Given the description of an element on the screen output the (x, y) to click on. 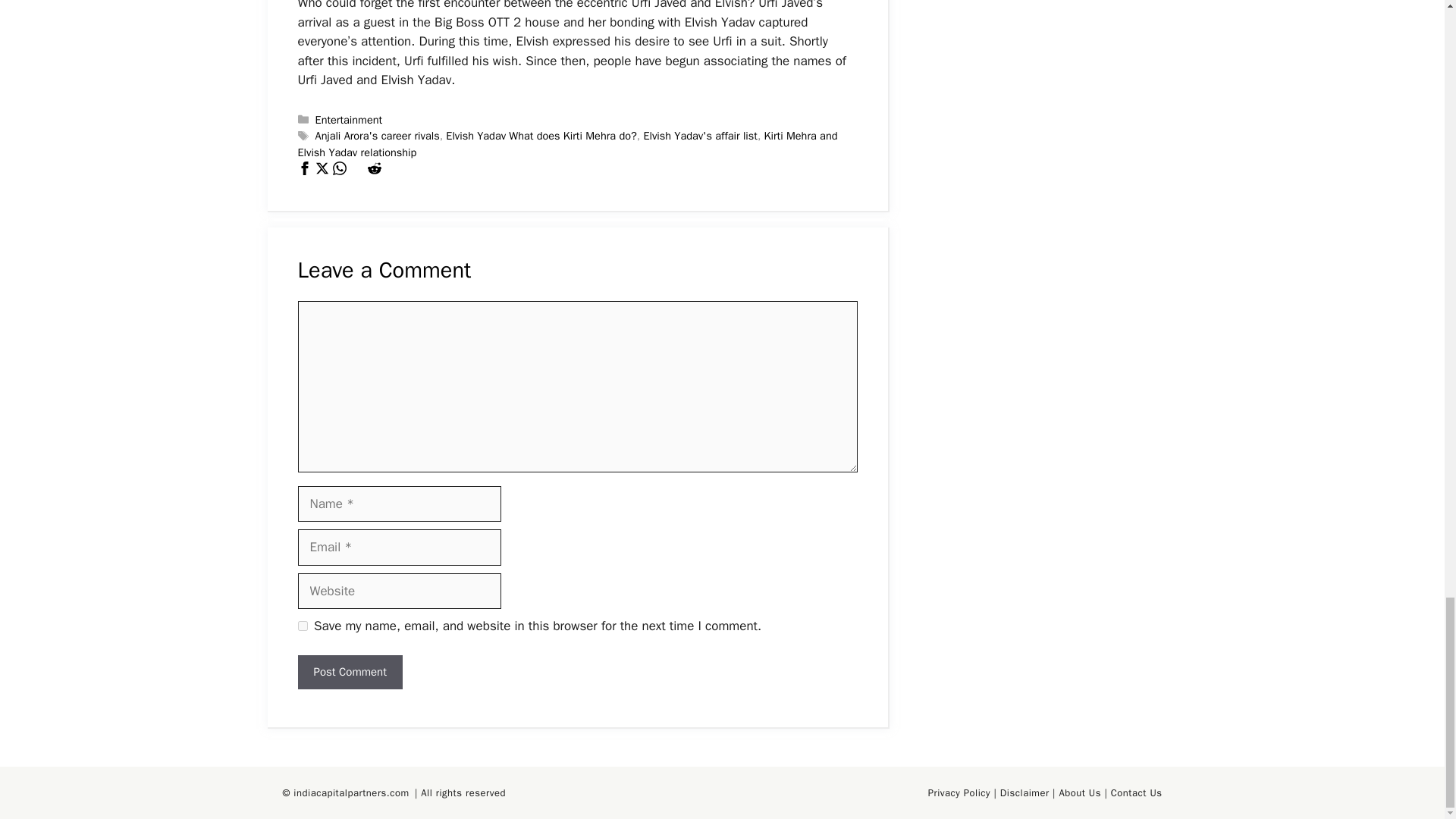
Anjali Arora's career rivals (377, 135)
Elvish Yadav's affair list (700, 135)
Kirti Mehra and Elvish Yadav relationship (567, 143)
Elvish Yadav What does Kirti Mehra do? (540, 135)
yes (302, 625)
Entertainment (348, 119)
Post Comment (349, 672)
Post Comment (349, 672)
